Given the description of an element on the screen output the (x, y) to click on. 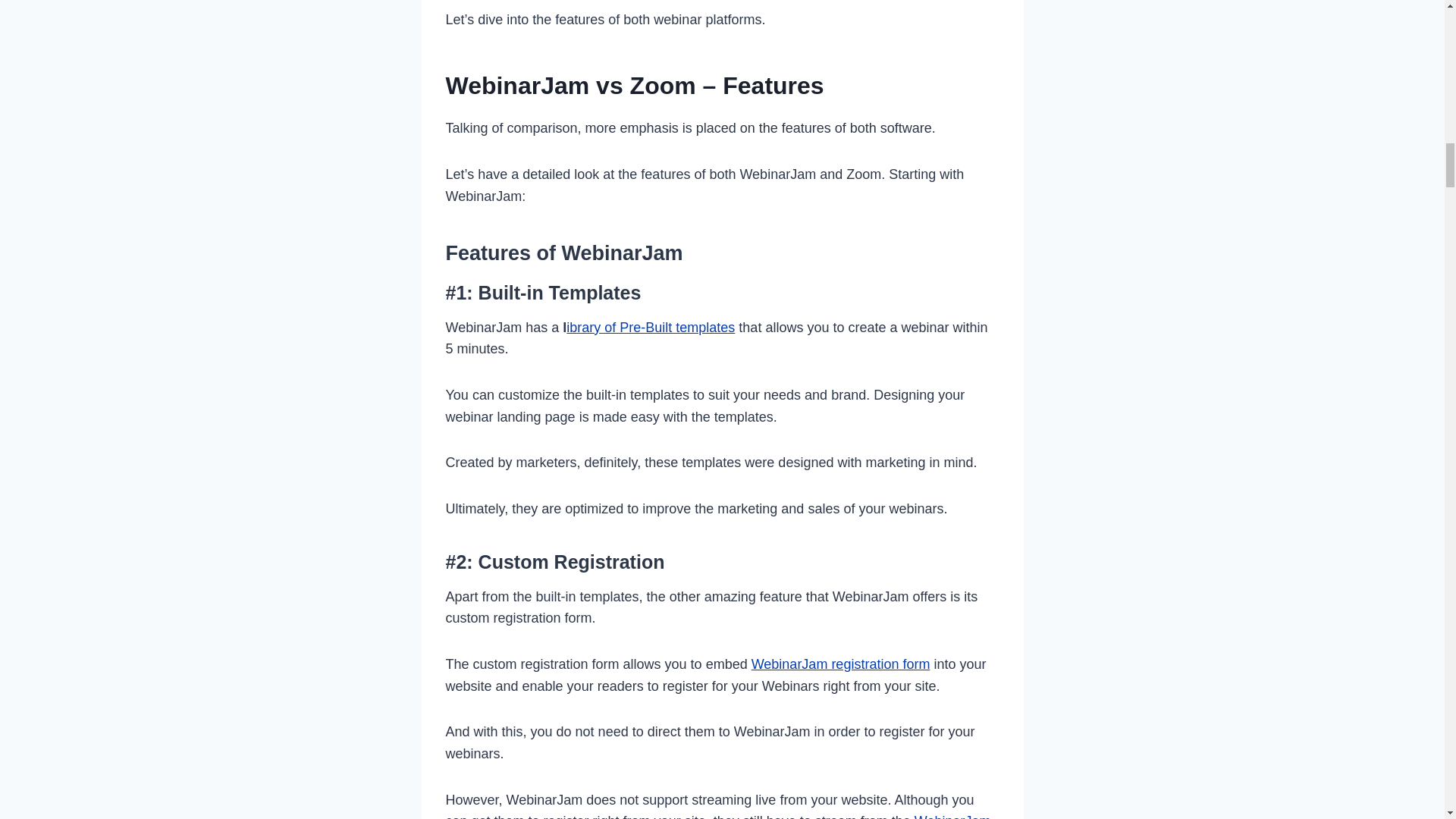
ibrary of Pre-Built templates (650, 327)
WebinarJam registration form (840, 663)
webinarjam (650, 327)
webinarjam (840, 663)
